Given the description of an element on the screen output the (x, y) to click on. 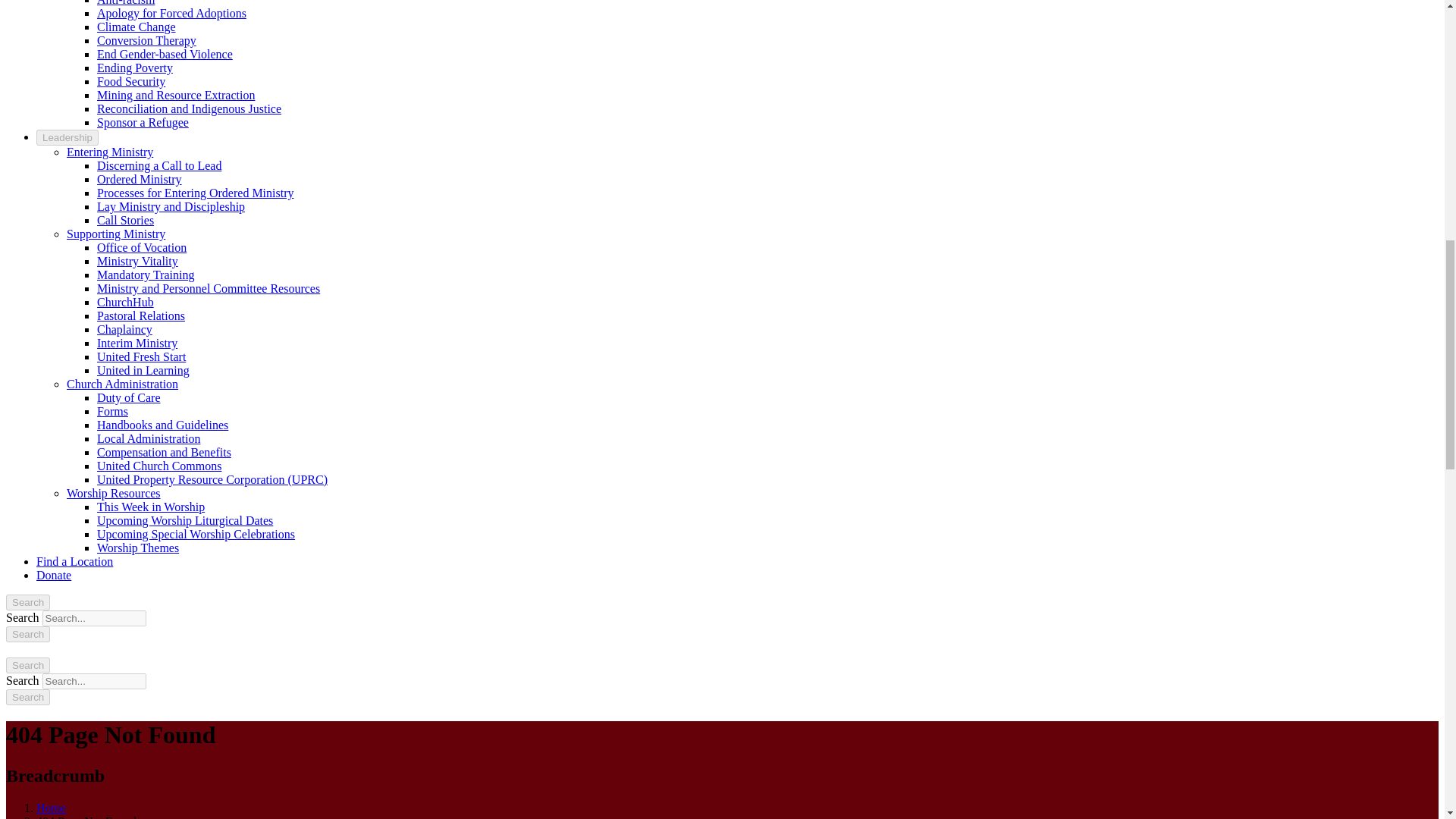
Enter the terms you wish to search for. (94, 618)
Enter the terms you wish to search for. (94, 681)
Search (27, 697)
Search (27, 697)
Search (27, 634)
Search (27, 634)
